Given the description of an element on the screen output the (x, y) to click on. 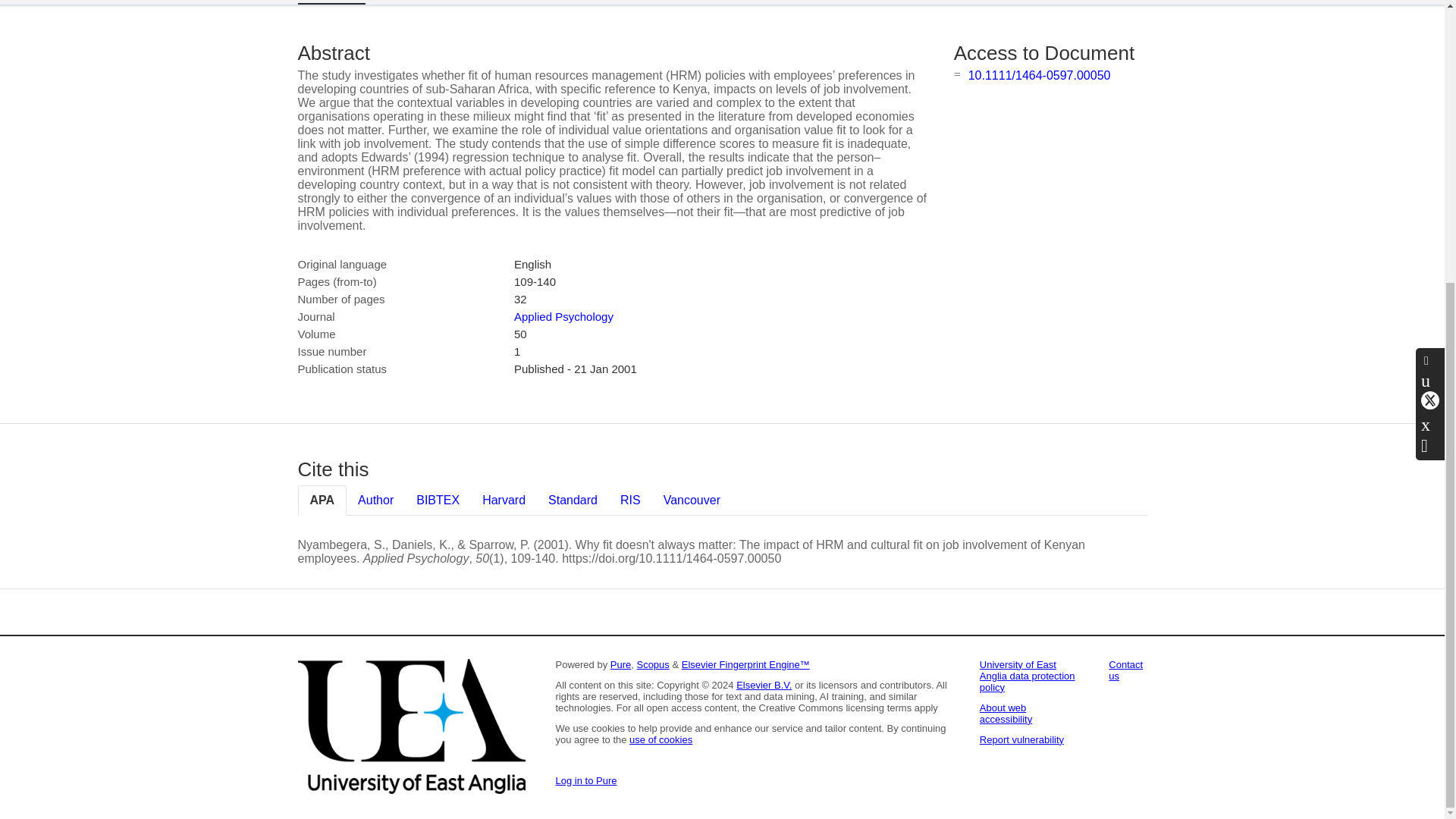
use of cookies (660, 739)
Overview (331, 2)
Applied Psychology (562, 316)
University of East Anglia data protection policy (1027, 675)
Report vulnerability (1021, 739)
About web accessibility (1005, 712)
Contact us (1125, 670)
Scopus (652, 664)
Elsevier B.V. (764, 685)
Pure (620, 664)
